Given the description of an element on the screen output the (x, y) to click on. 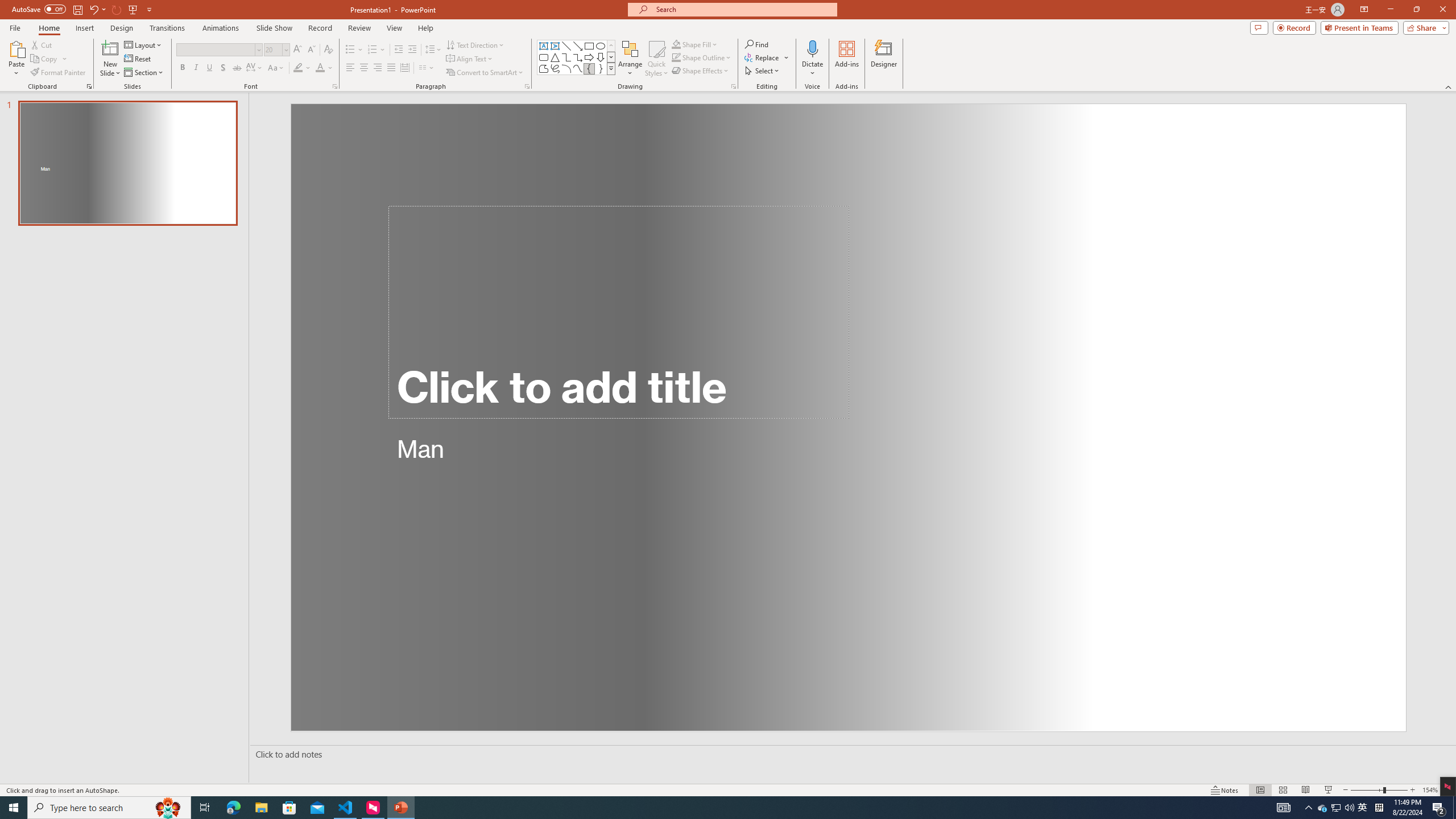
Arrange (630, 58)
Shape Outline Blue, Accent 1 (675, 56)
Line (566, 45)
Arc (566, 68)
Shape Effects (700, 69)
Right Brace (600, 68)
